Given the description of an element on the screen output the (x, y) to click on. 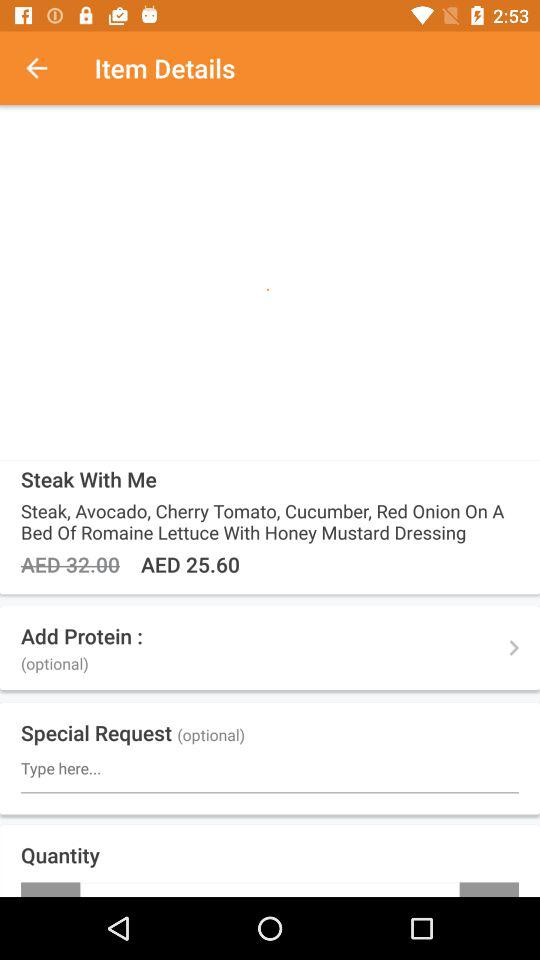
tap the item to the left of item details icon (47, 68)
